Given the description of an element on the screen output the (x, y) to click on. 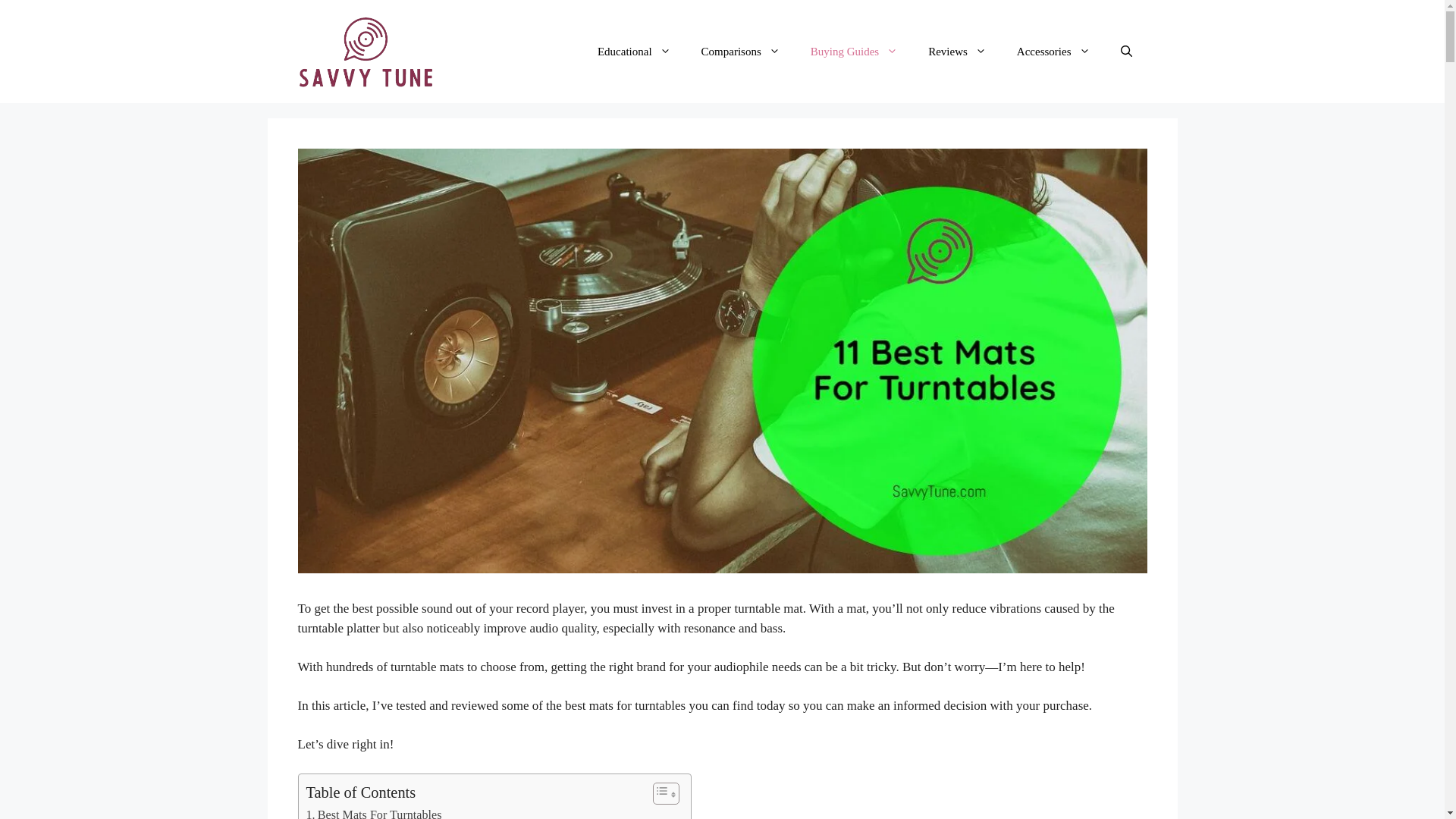
Best Mats For Turntables (373, 812)
Reviews (956, 51)
Accessories (1053, 51)
Comparisons (739, 51)
Buying Guides (853, 51)
Educational (633, 51)
